Given the description of an element on the screen output the (x, y) to click on. 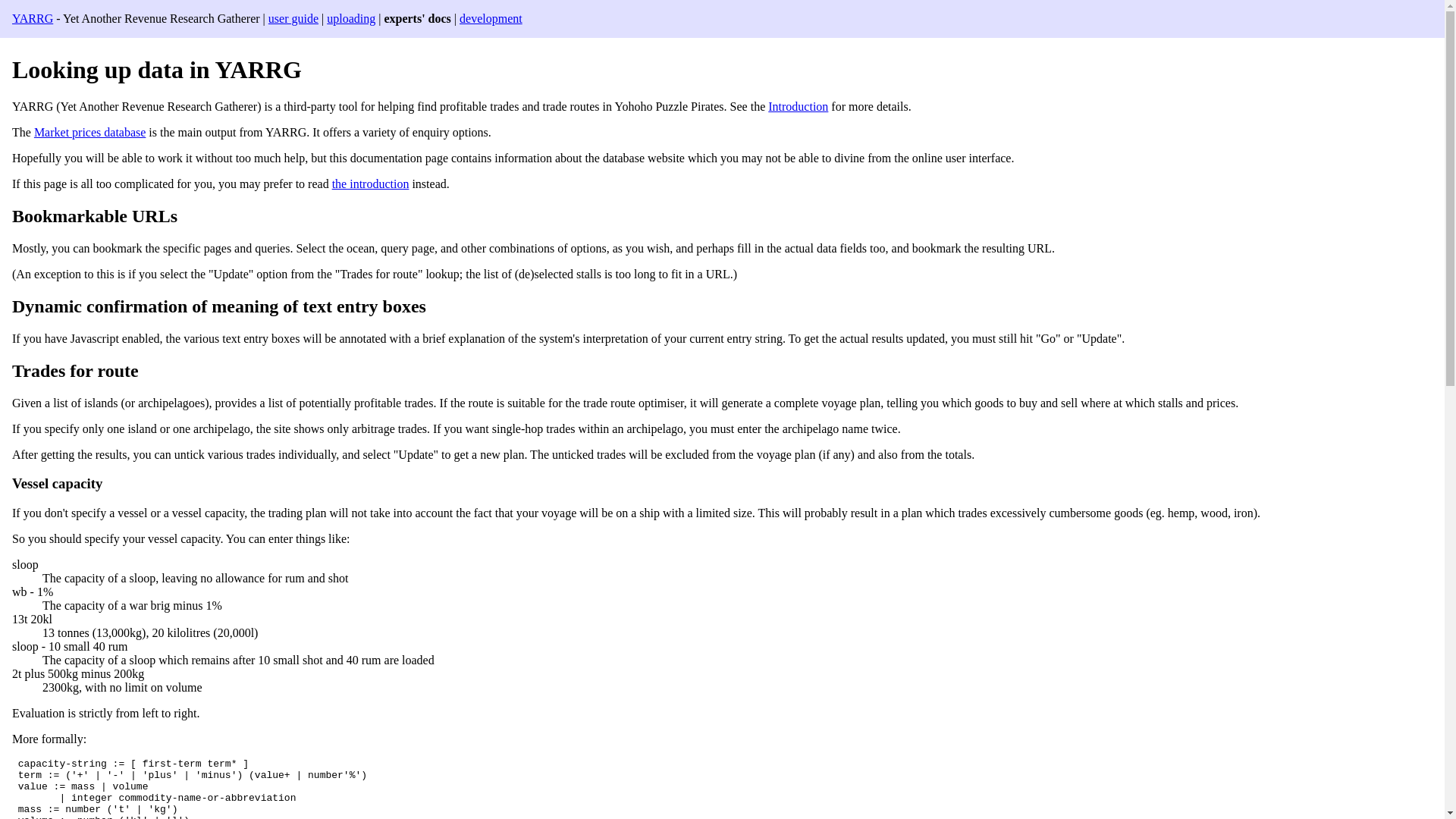
user guide (292, 18)
Vessel capacity (56, 483)
development (491, 18)
uploading (350, 18)
Market prices database (89, 132)
Introduction (798, 106)
the introduction (370, 183)
YARRG (31, 18)
